Given the description of an element on the screen output the (x, y) to click on. 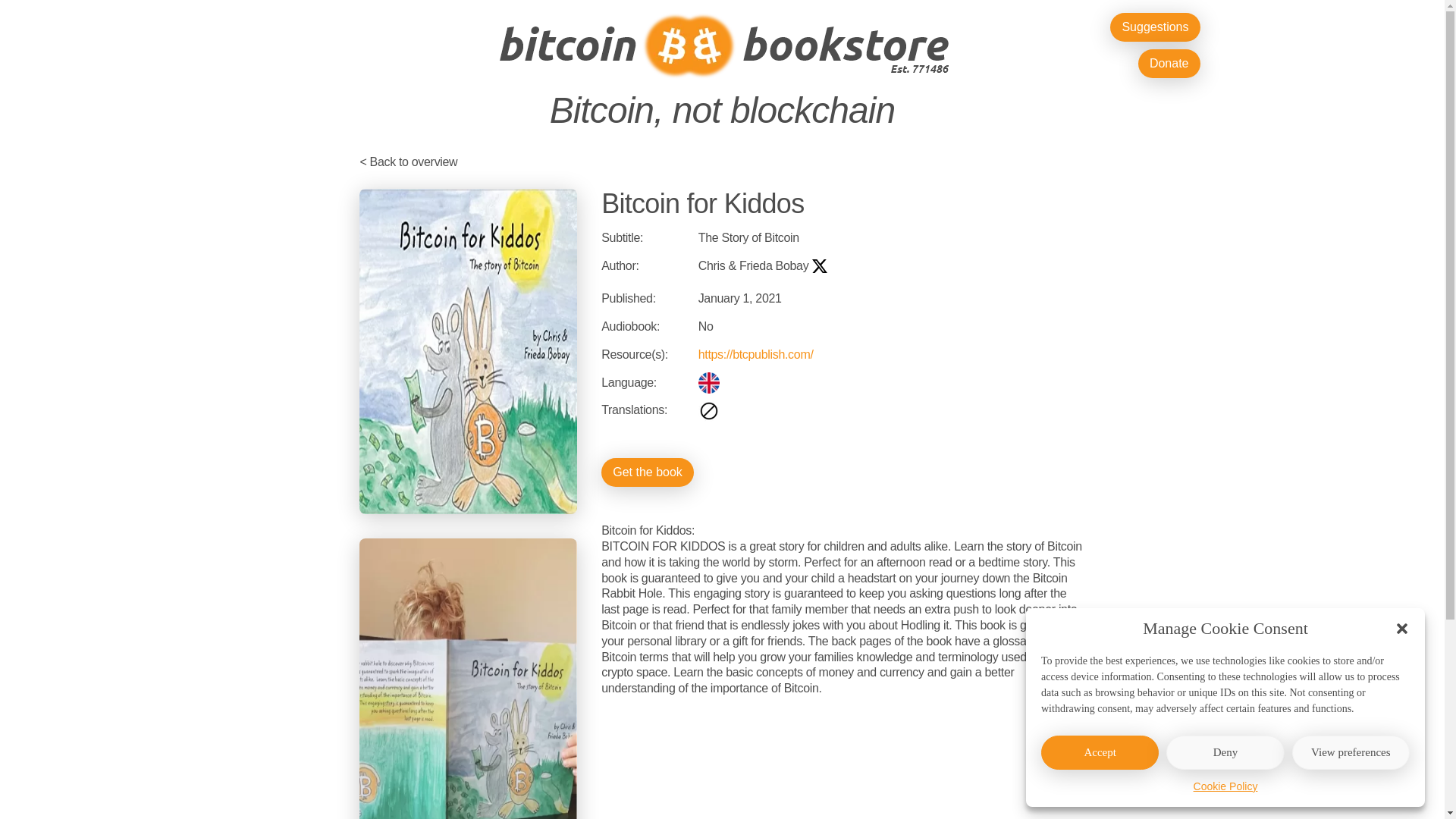
Get the book (647, 471)
English (708, 382)
No-Translation-Yet (708, 410)
Suggestions (1154, 27)
Donate (1168, 63)
